Given the description of an element on the screen output the (x, y) to click on. 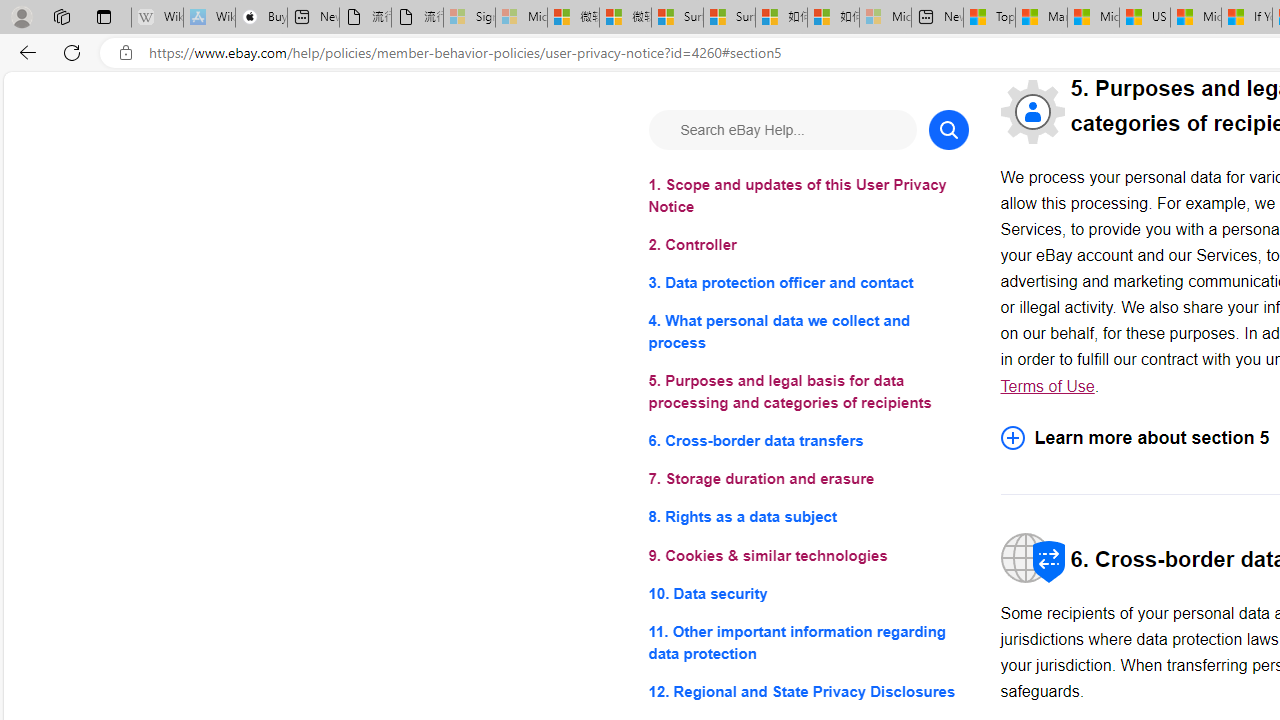
9. Cookies & similar technologies (807, 555)
